Given the description of an element on the screen output the (x, y) to click on. 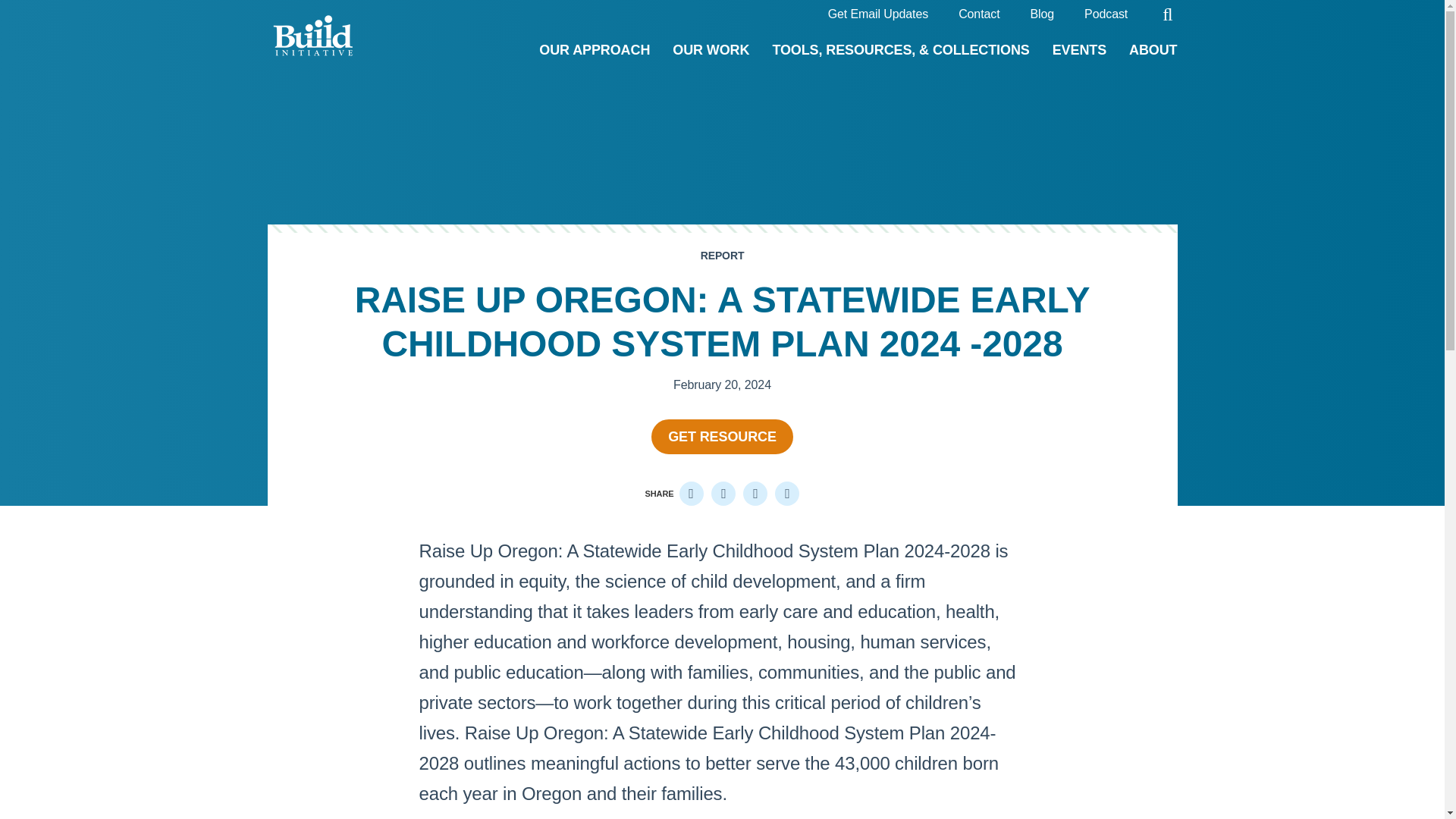
Contact (978, 15)
OUR APPROACH (593, 51)
OUR WORK (710, 51)
EVENTS (1079, 51)
ABOUT (1152, 51)
Get Email Updates (878, 15)
Blog (1042, 15)
